Given the description of an element on the screen output the (x, y) to click on. 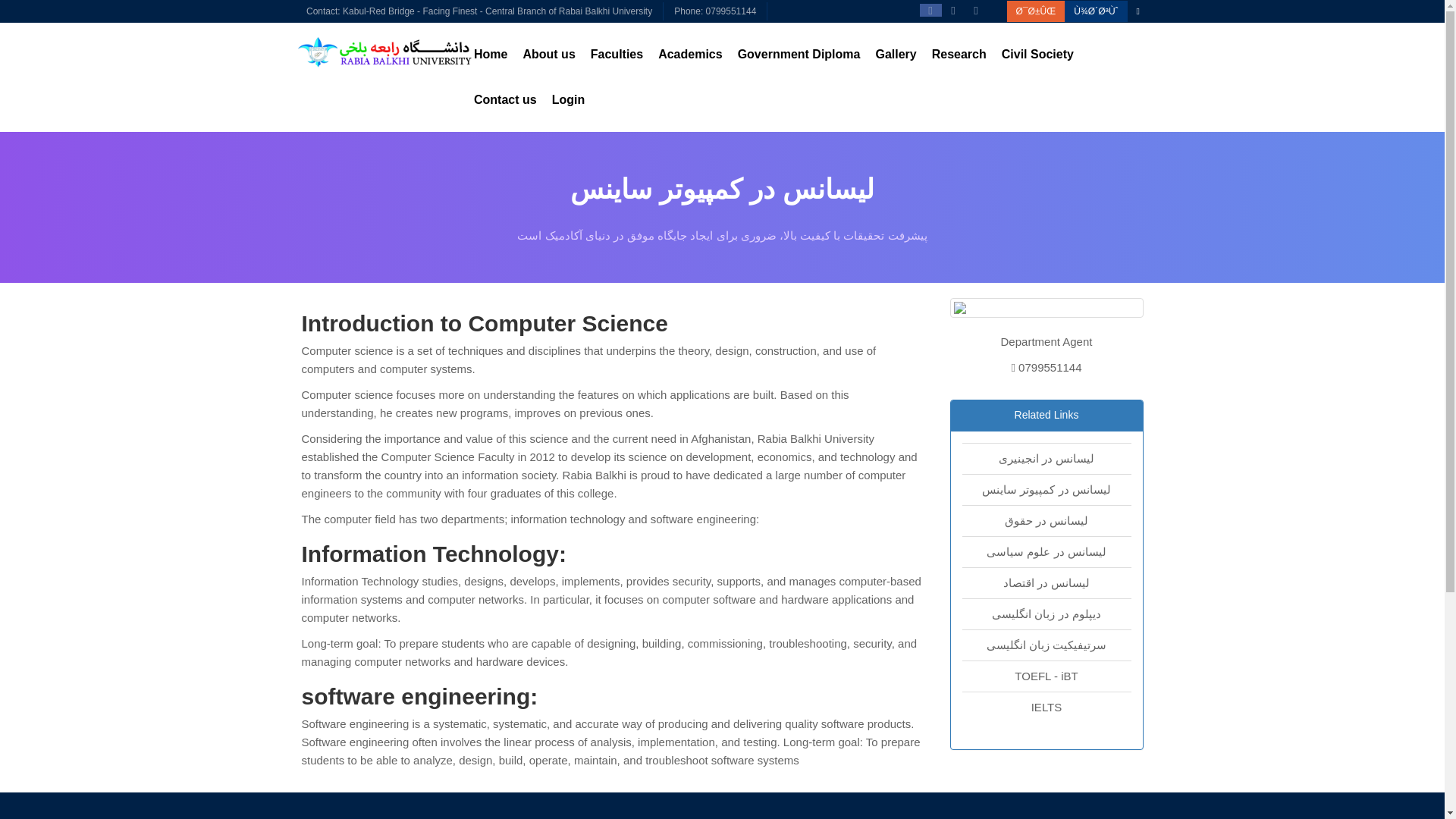
About us (548, 54)
Phone: 0799551144 (715, 11)
Home (490, 54)
